Given the description of an element on the screen output the (x, y) to click on. 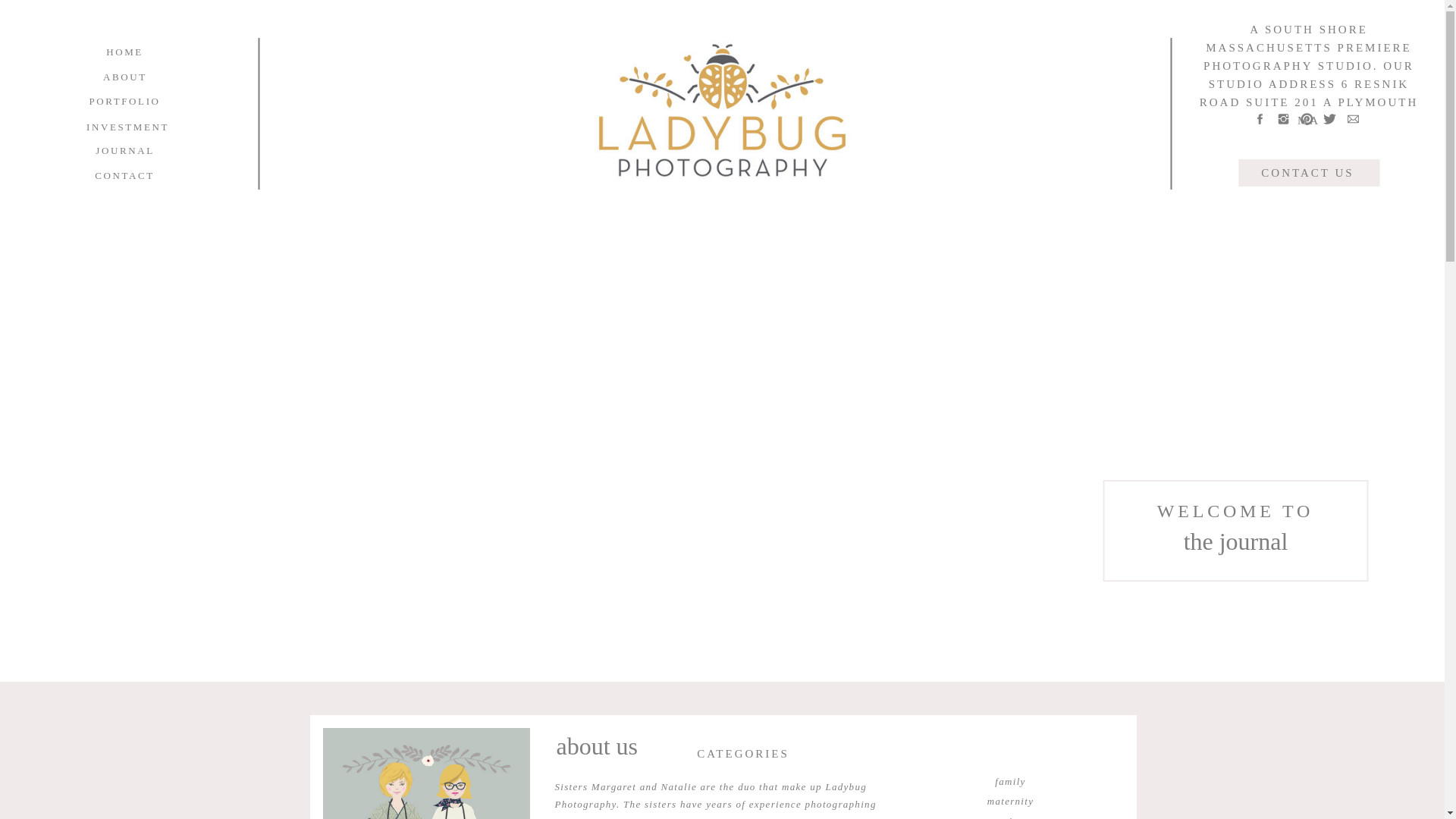
CONTACT (124, 175)
PORTFOLIO (124, 101)
ABOUT (124, 76)
INVESTMENT (126, 126)
HOME (124, 51)
CATEGORIES (742, 752)
JOURNAL (125, 150)
CONTACT US (1308, 171)
